Given the description of an element on the screen output the (x, y) to click on. 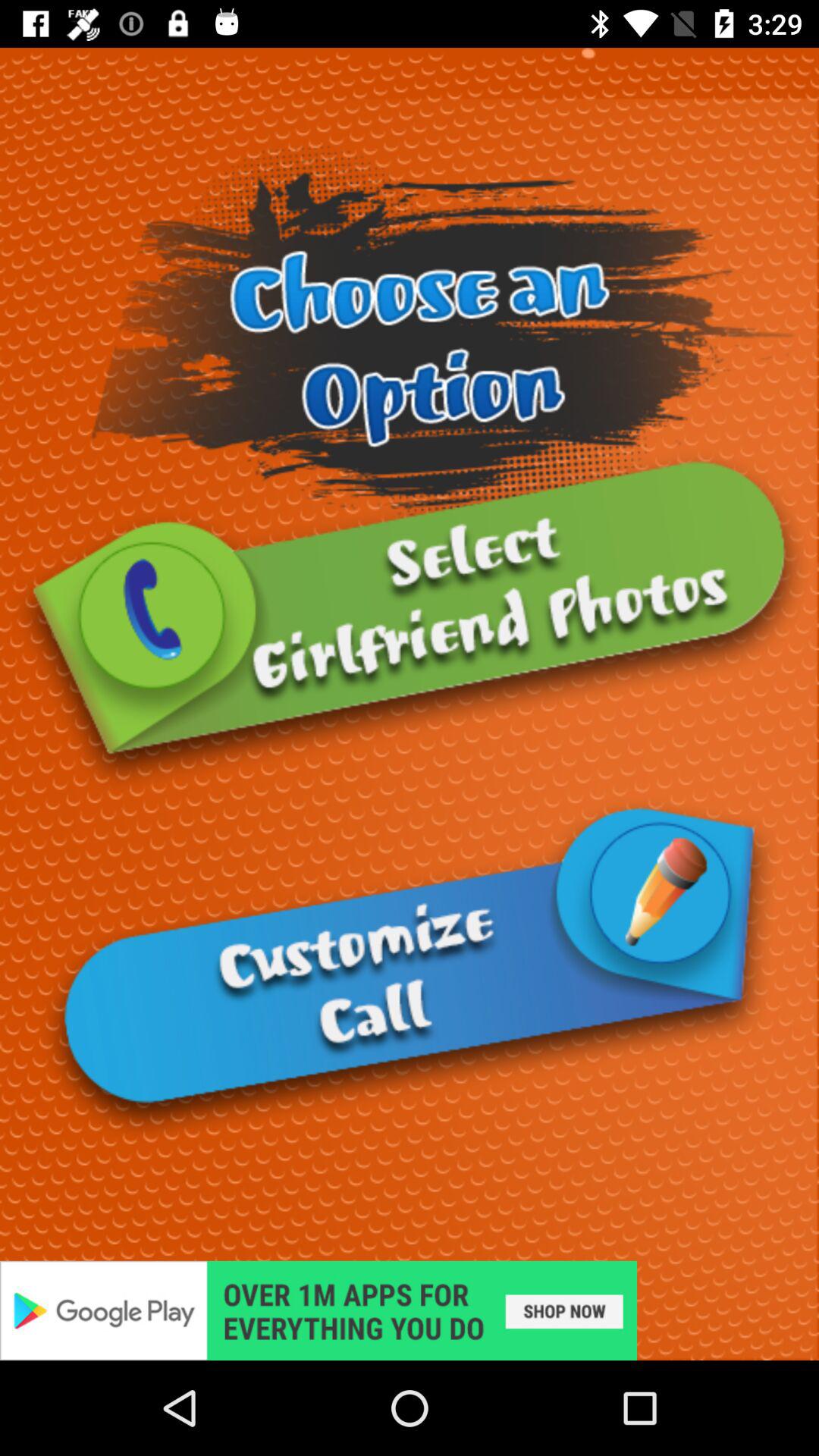
select photos (409, 621)
